Given the description of an element on the screen output the (x, y) to click on. 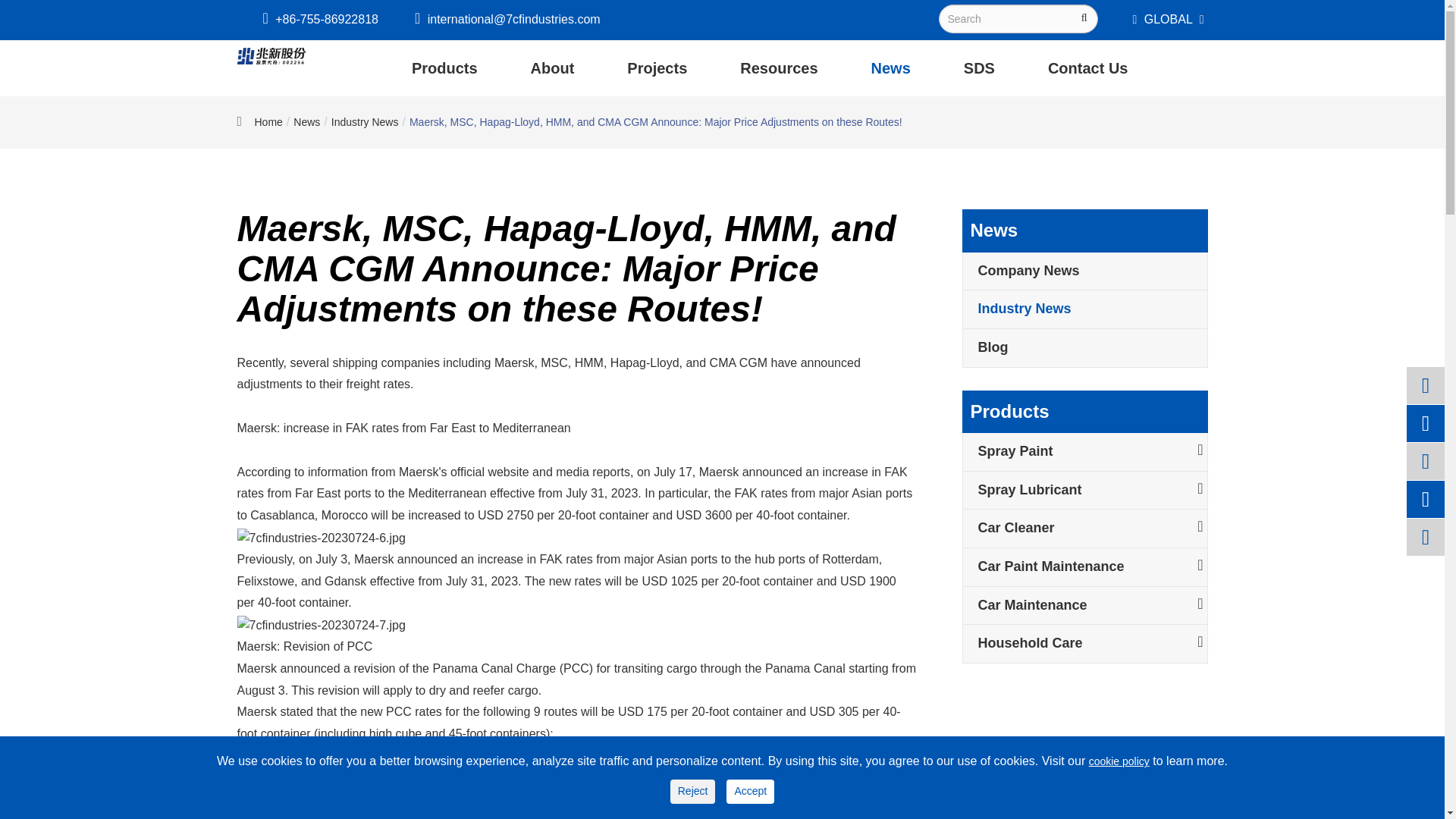
Shenzhen Sunrise New Energy Co.,Ltd. (269, 55)
Products (444, 68)
